Given the description of an element on the screen output the (x, y) to click on. 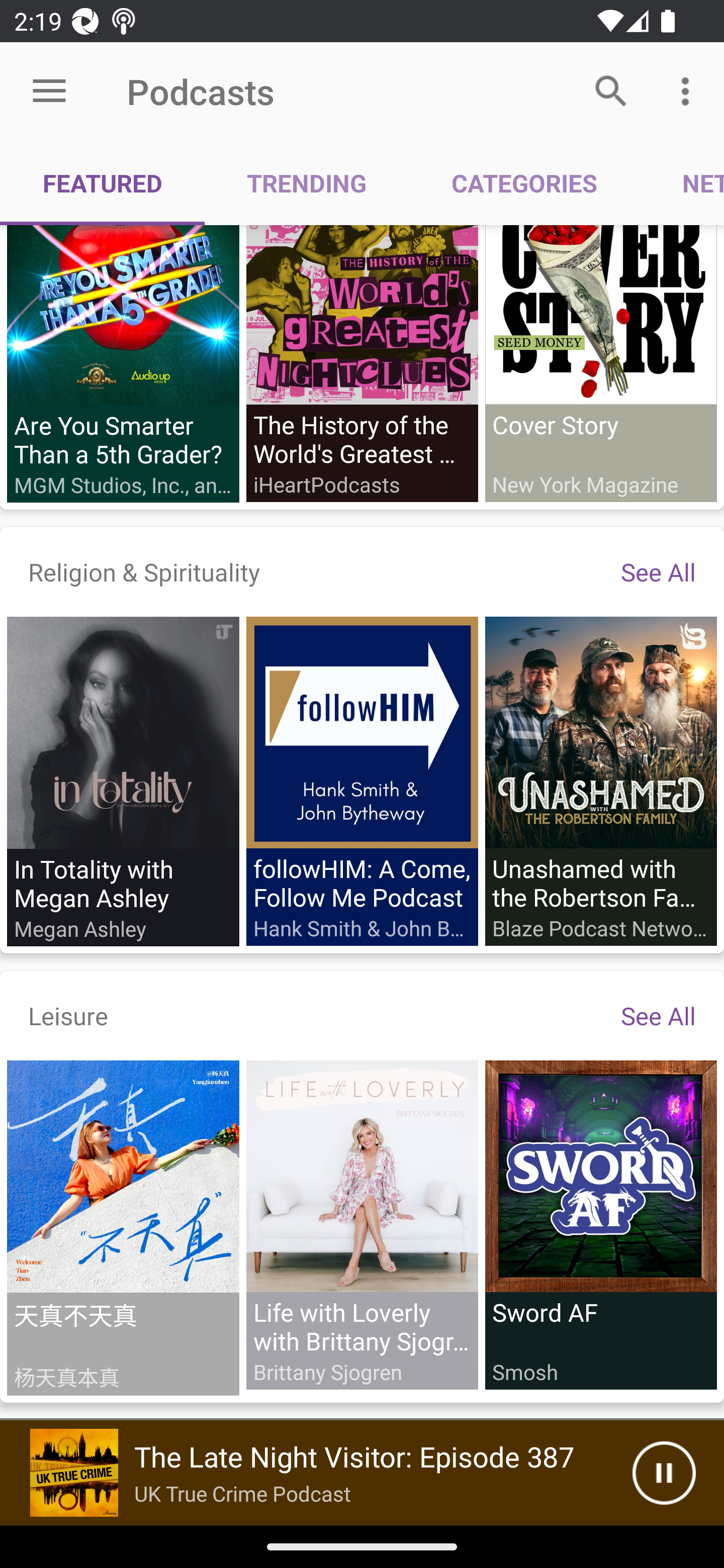
Open menu (49, 91)
Search (611, 90)
More options (688, 90)
FEATURED (102, 183)
TRENDING (306, 183)
CATEGORIES (524, 183)
Cover Story New York Magazine (600, 363)
Religion & Spirituality (143, 571)
See All (658, 571)
In Totality with Megan Ashley Megan Ashley (123, 781)
Leisure (67, 1014)
See All (658, 1014)
天真不天真 杨天真本真 (123, 1227)
Sword AF Smosh (600, 1224)
Pause (663, 1472)
